Given the description of an element on the screen output the (x, y) to click on. 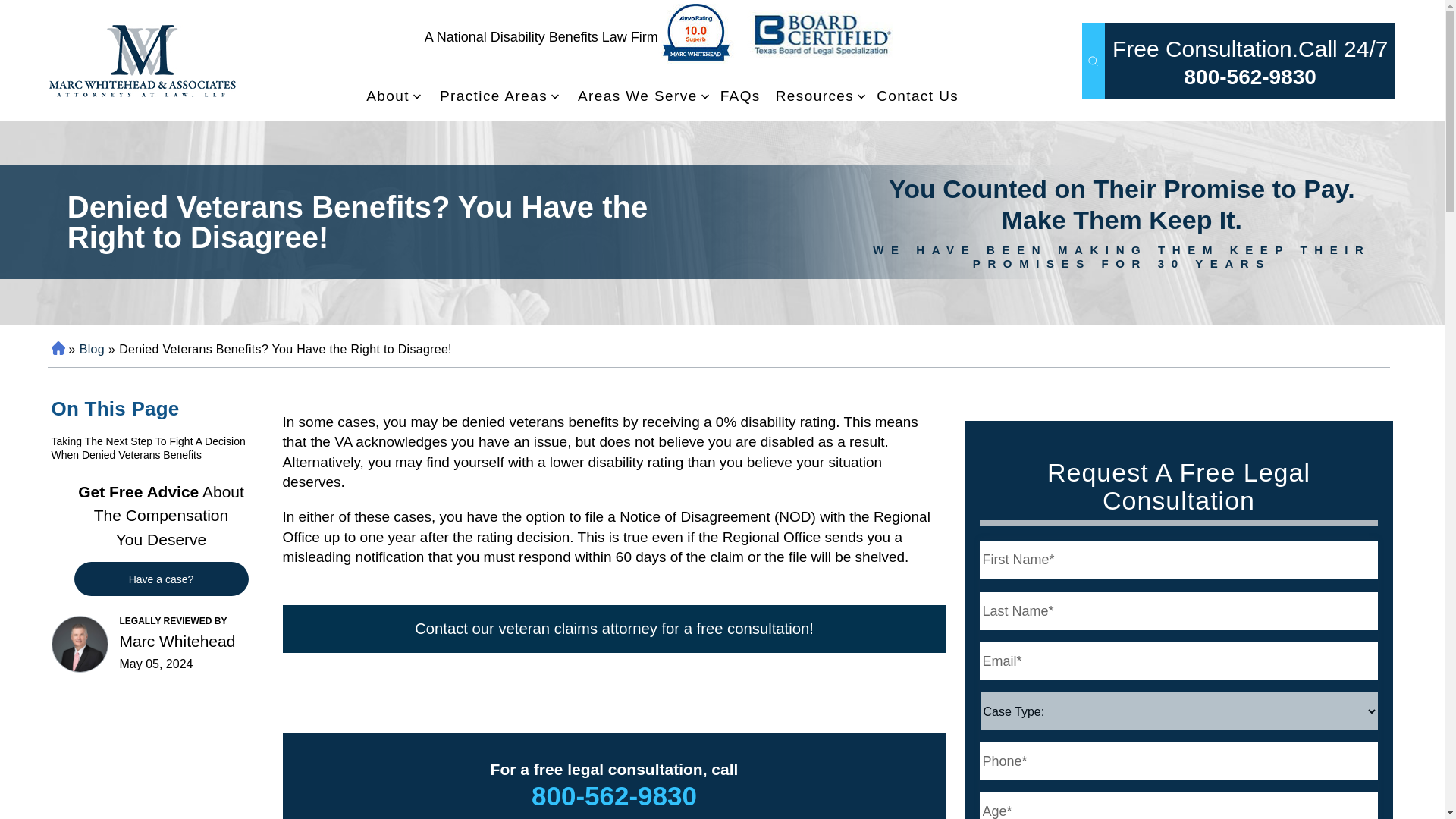
Disability Denials (141, 61)
About (387, 95)
Call to Disability Denials (1250, 77)
Have a case? (161, 578)
Practice Areas (493, 95)
Marc Whitehead (78, 643)
Areas We Serve (637, 95)
